Given the description of an element on the screen output the (x, y) to click on. 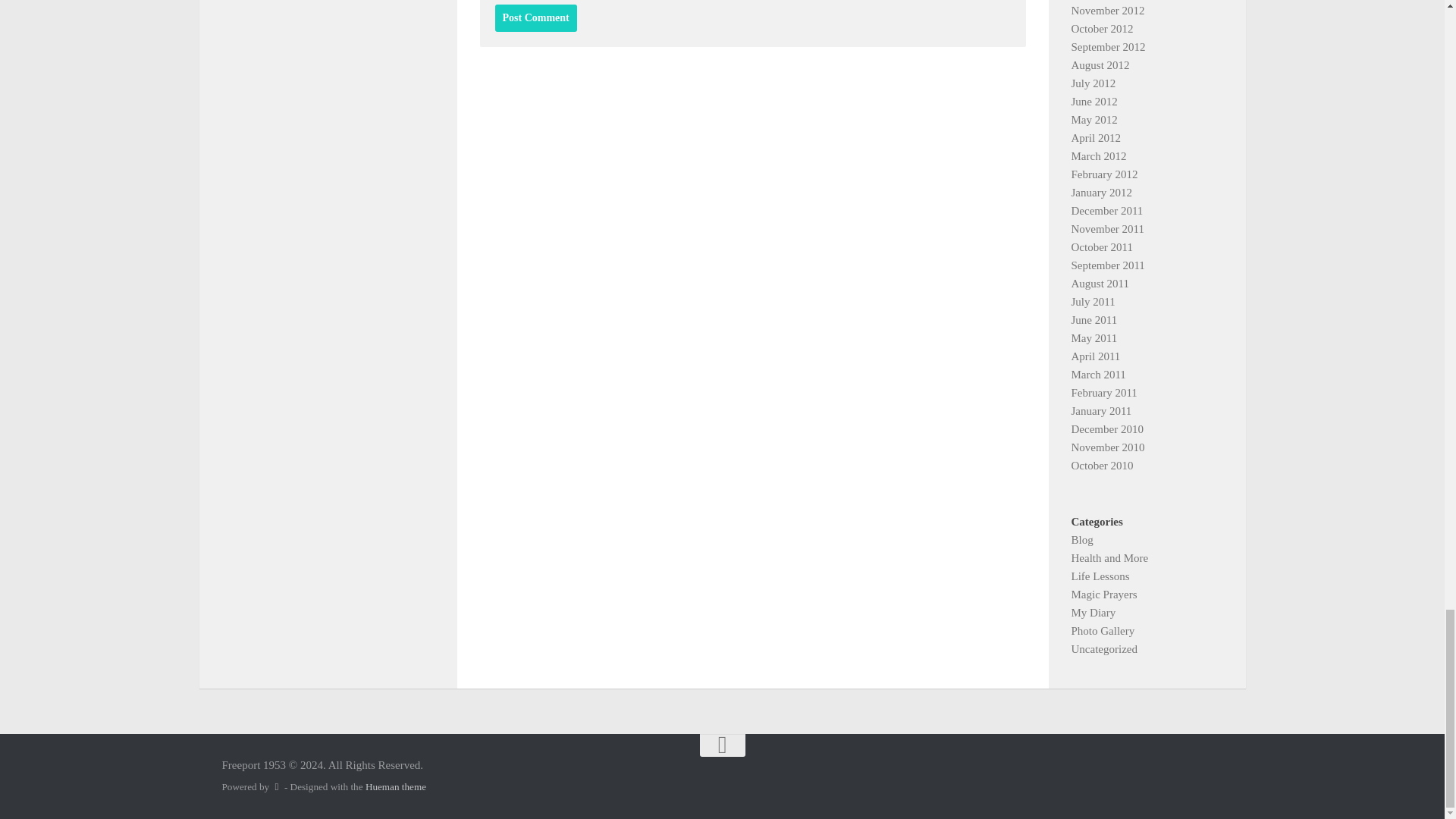
Post Comment (535, 17)
